Given the description of an element on the screen output the (x, y) to click on. 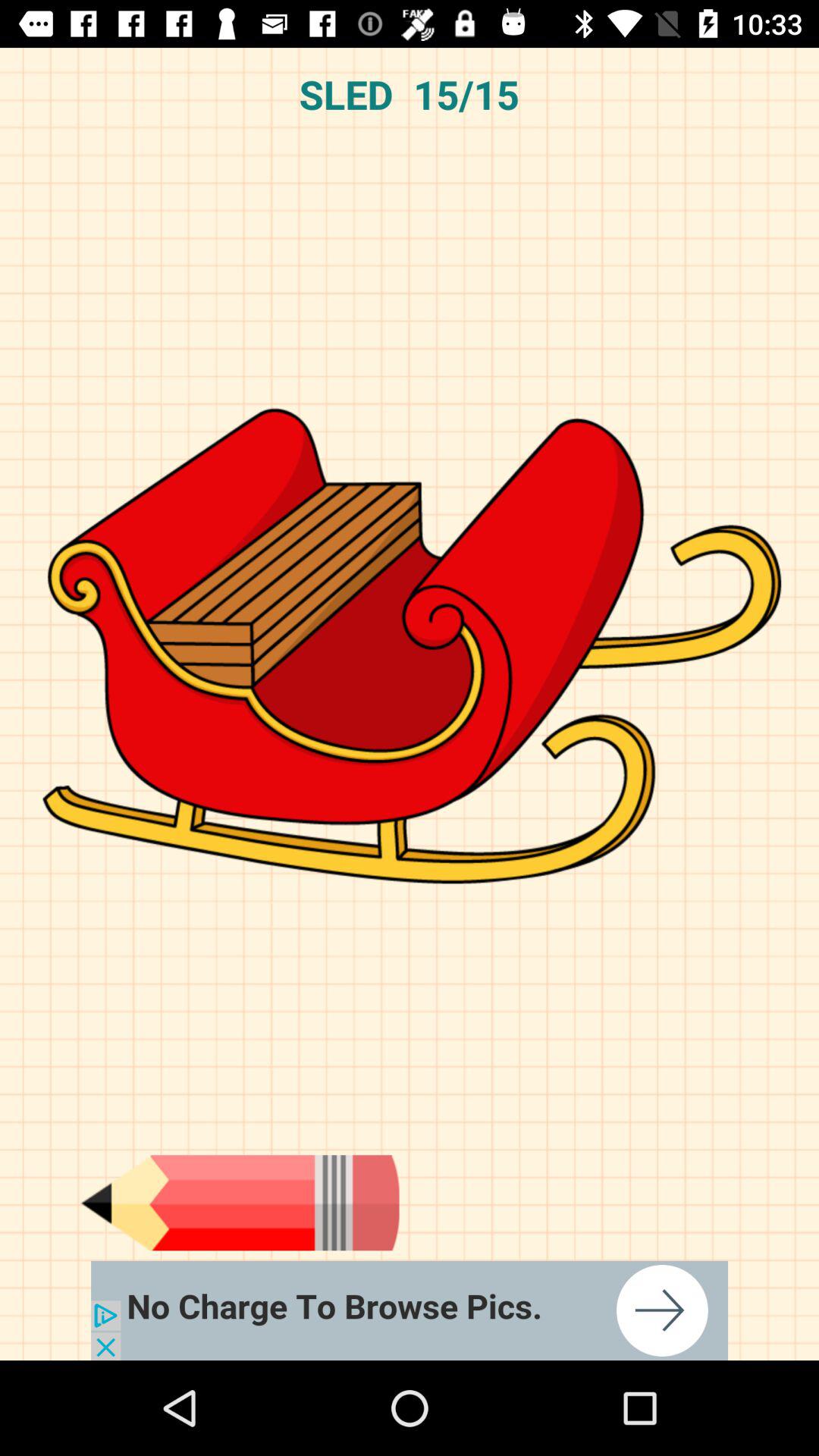
send a message (239, 1202)
